Given the description of an element on the screen output the (x, y) to click on. 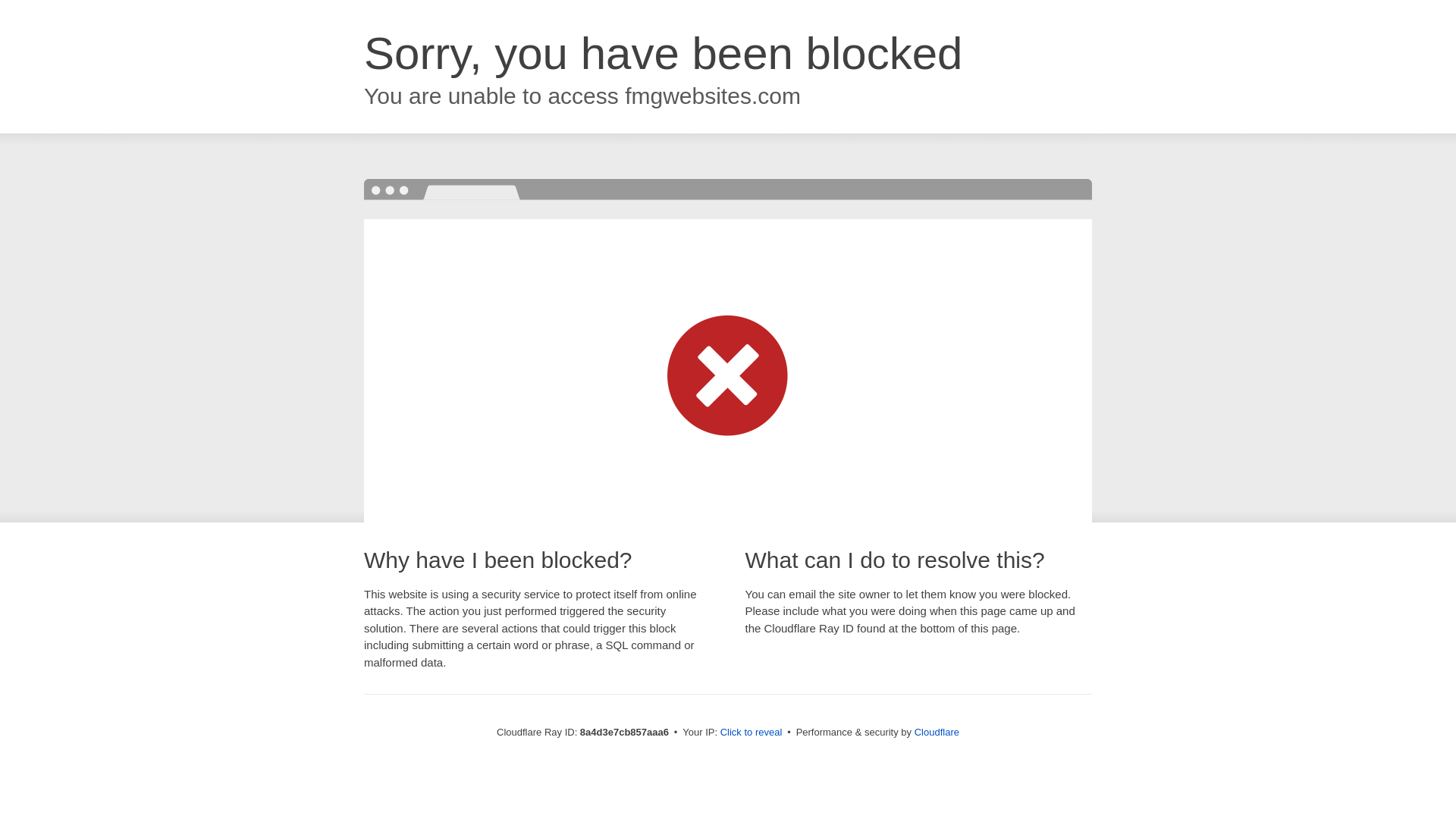
Cloudflare (936, 731)
Click to reveal (751, 732)
